Given the description of an element on the screen output the (x, y) to click on. 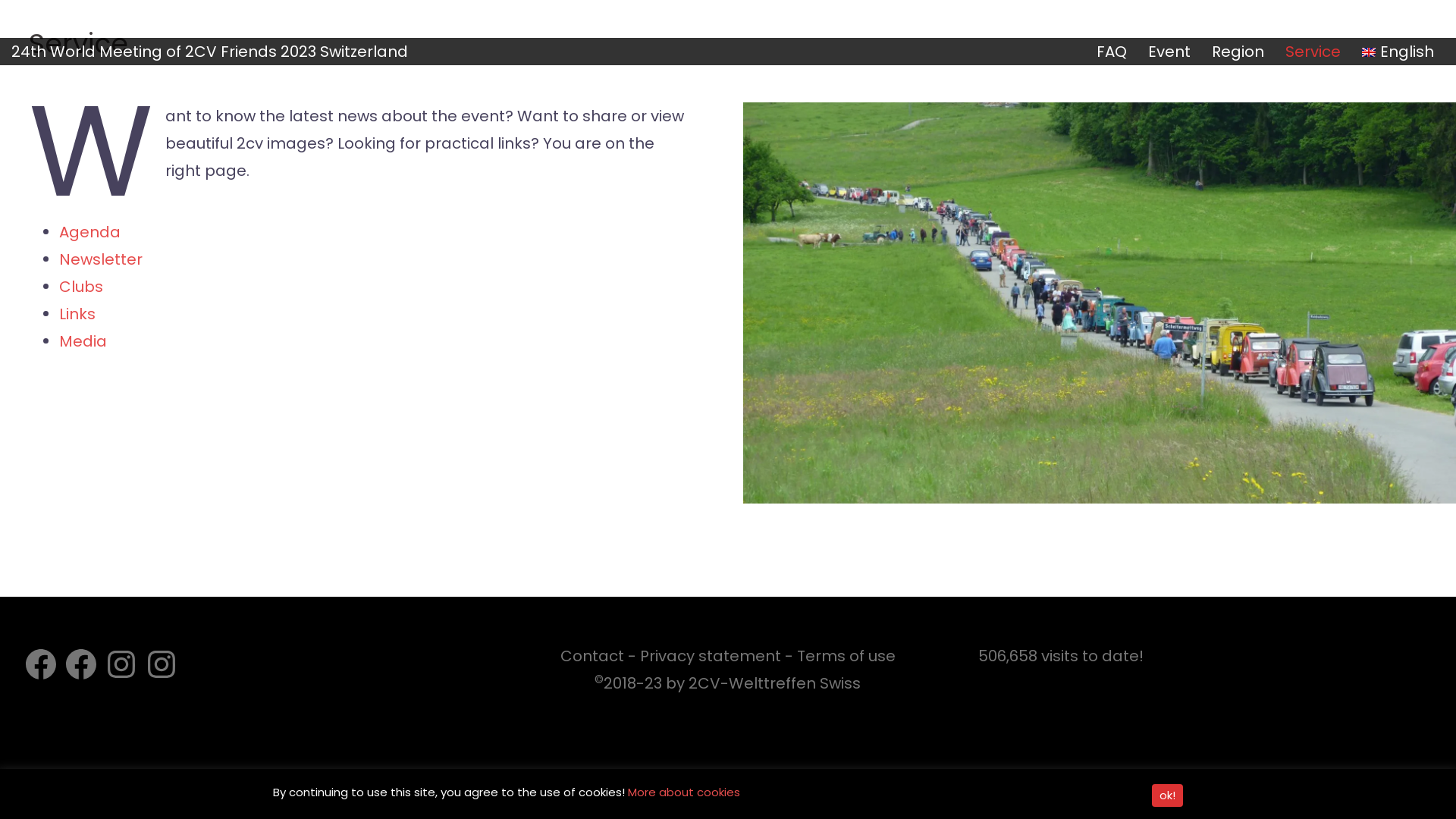
Facebook Element type: text (40, 664)
Service Element type: text (1312, 51)
Instagram Element type: text (161, 664)
Region Element type: text (1237, 51)
More about cookies Element type: text (683, 792)
English Element type: text (1397, 51)
Media Element type: text (82, 340)
Event Element type: text (1169, 51)
Terms of use Element type: text (846, 655)
Facebook Element type: text (80, 664)
Privacy statement Element type: text (710, 655)
Contact Element type: text (592, 655)
FAQ Element type: text (1111, 51)
Agenda Element type: text (89, 231)
Instagram Element type: text (121, 664)
Newsletter Element type: text (100, 258)
24th World Meeting of 2CV Friends 2023 Switzerland Element type: text (209, 51)
ok! Element type: text (1167, 795)
Links Element type: text (77, 313)
Clubs Element type: text (81, 286)
